Given the description of an element on the screen output the (x, y) to click on. 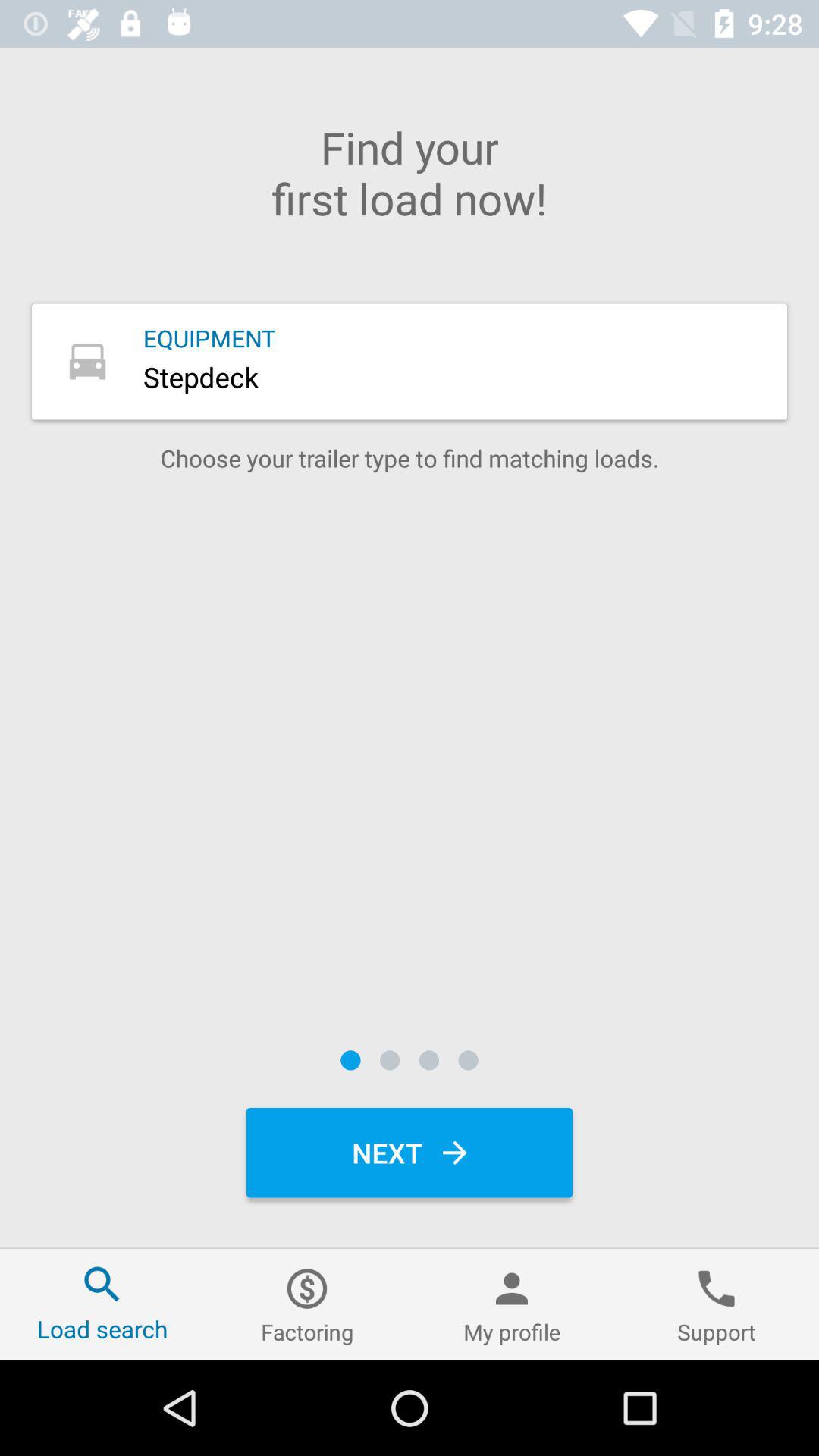
scroll until the my profile (511, 1304)
